Given the description of an element on the screen output the (x, y) to click on. 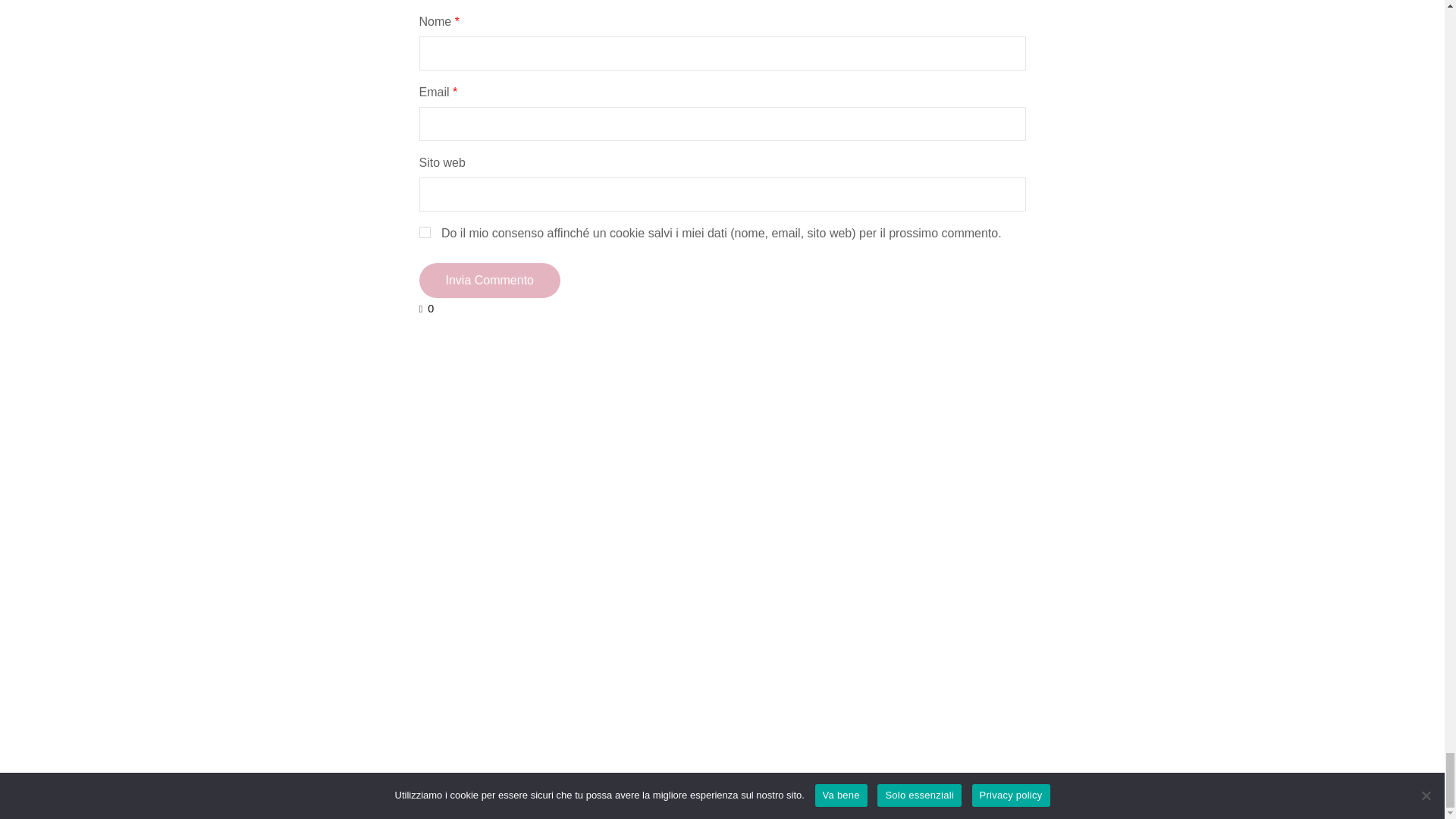
Invia commento (489, 280)
0 (426, 308)
Invia commento (489, 280)
